Given the description of an element on the screen output the (x, y) to click on. 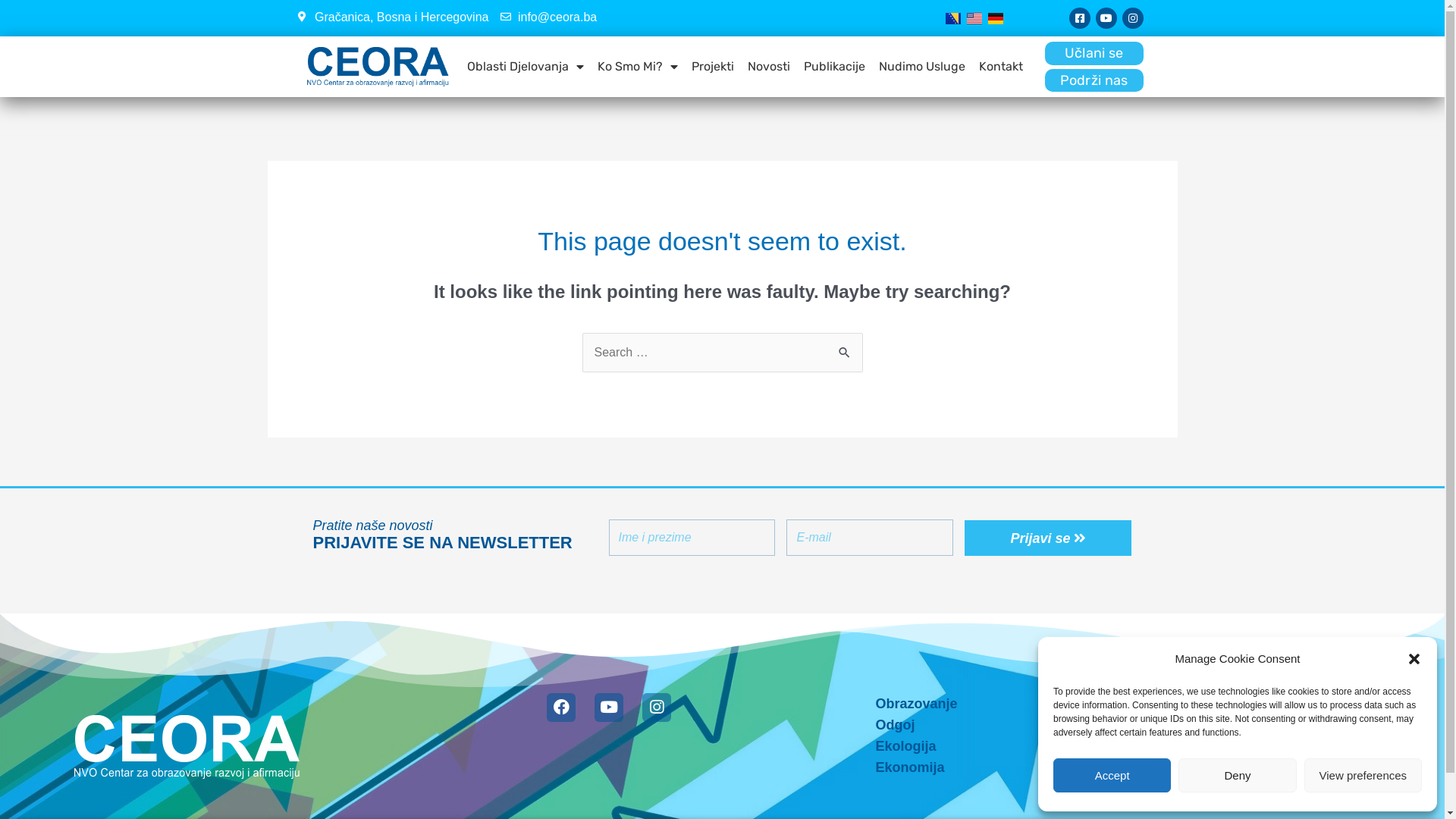
Projekti Element type: text (712, 66)
Kontakt Element type: text (1000, 66)
Prijavi se Element type: text (1047, 537)
Accept Element type: text (1111, 775)
Ko Smo Mi? Element type: text (637, 66)
Ekonomija Element type: text (992, 767)
View preferences Element type: text (1362, 775)
Search Element type: text (845, 348)
Obrazovanje Element type: text (992, 703)
Odgoj Element type: text (992, 724)
info@ceora.ba Element type: text (548, 17)
Ekologija Element type: text (992, 745)
Publikacije Element type: text (834, 66)
Novosti Element type: text (768, 66)
Nudimo Usluge Element type: text (921, 66)
Deny Element type: text (1236, 775)
Oblasti Djelovanja Element type: text (525, 66)
